Given the description of an element on the screen output the (x, y) to click on. 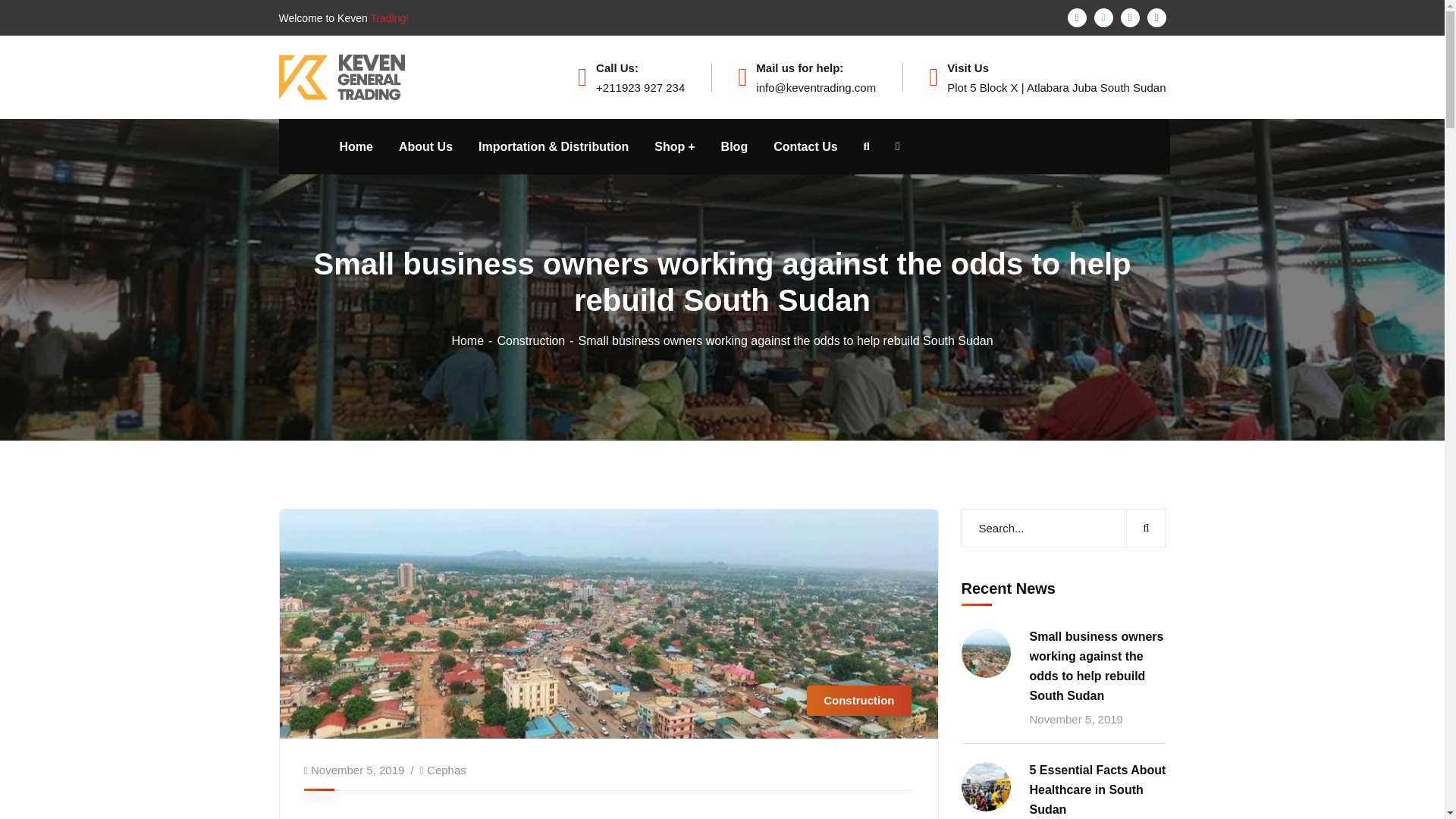
Contact Us (805, 146)
Construction (537, 340)
Cephas (445, 769)
Keven General Trading (342, 75)
Home (473, 340)
About Us (425, 146)
Construction (858, 700)
5 Essential Facts About Healthcare in South Sudan (1097, 789)
Posts by Cephas (445, 769)
